Given the description of an element on the screen output the (x, y) to click on. 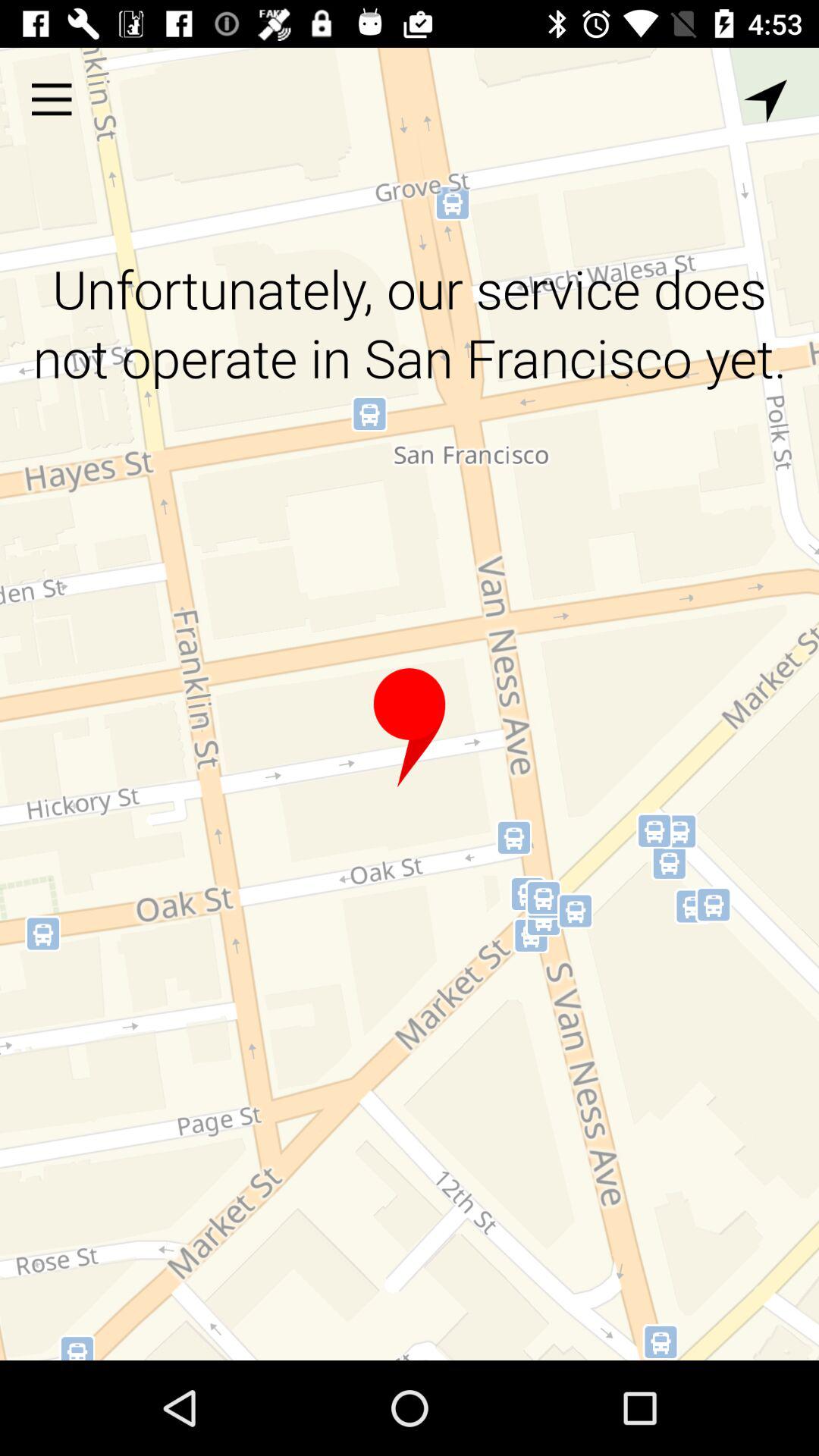
navigation (765, 100)
